Given the description of an element on the screen output the (x, y) to click on. 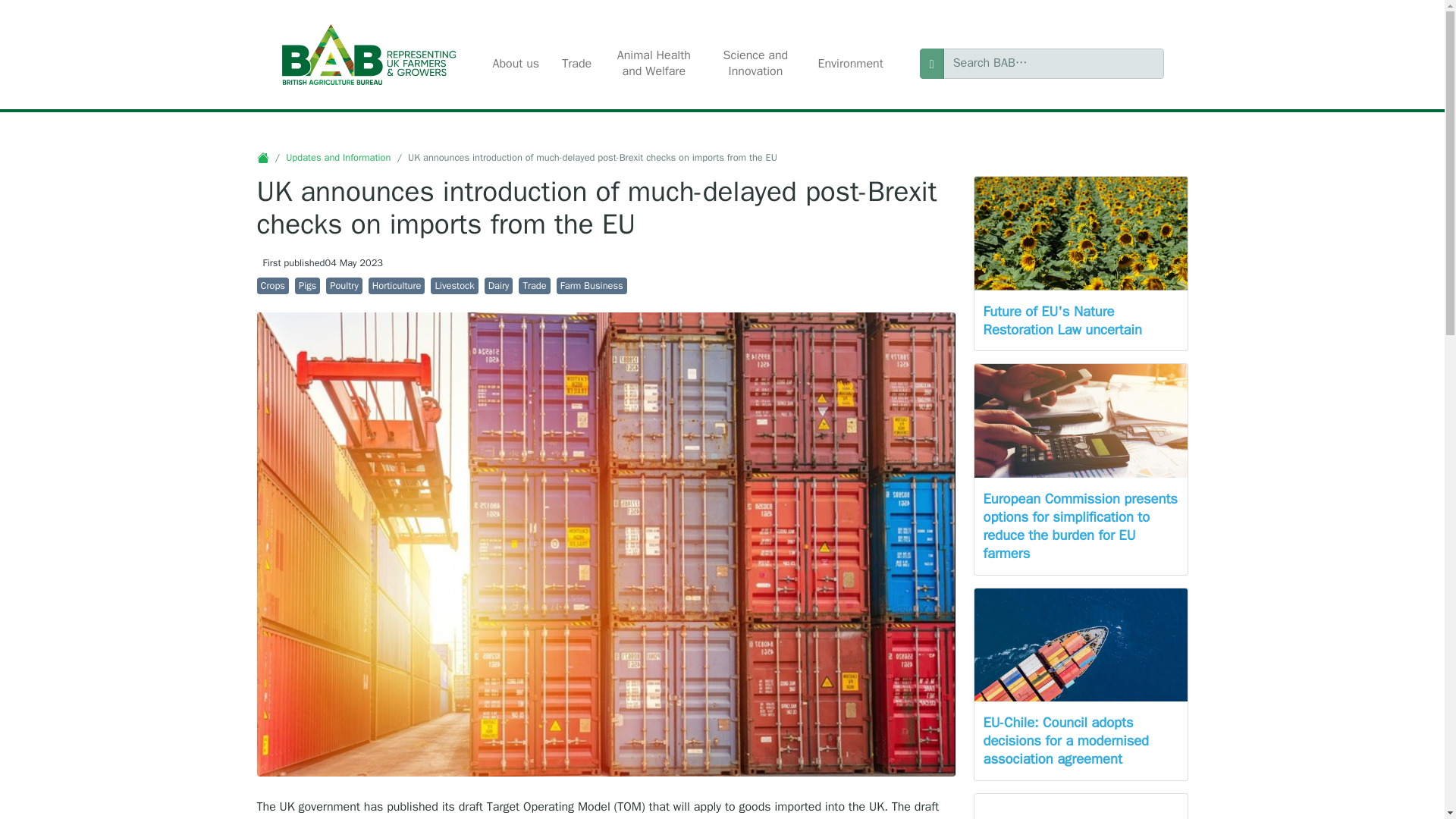
Horticulture (396, 285)
About us (515, 63)
Dairy (498, 285)
Science and Innovation (755, 63)
Updates and Information (337, 157)
Crops (272, 285)
Trade (534, 285)
Livestock (453, 285)
Animal Health and Welfare (653, 63)
